Given the description of an element on the screen output the (x, y) to click on. 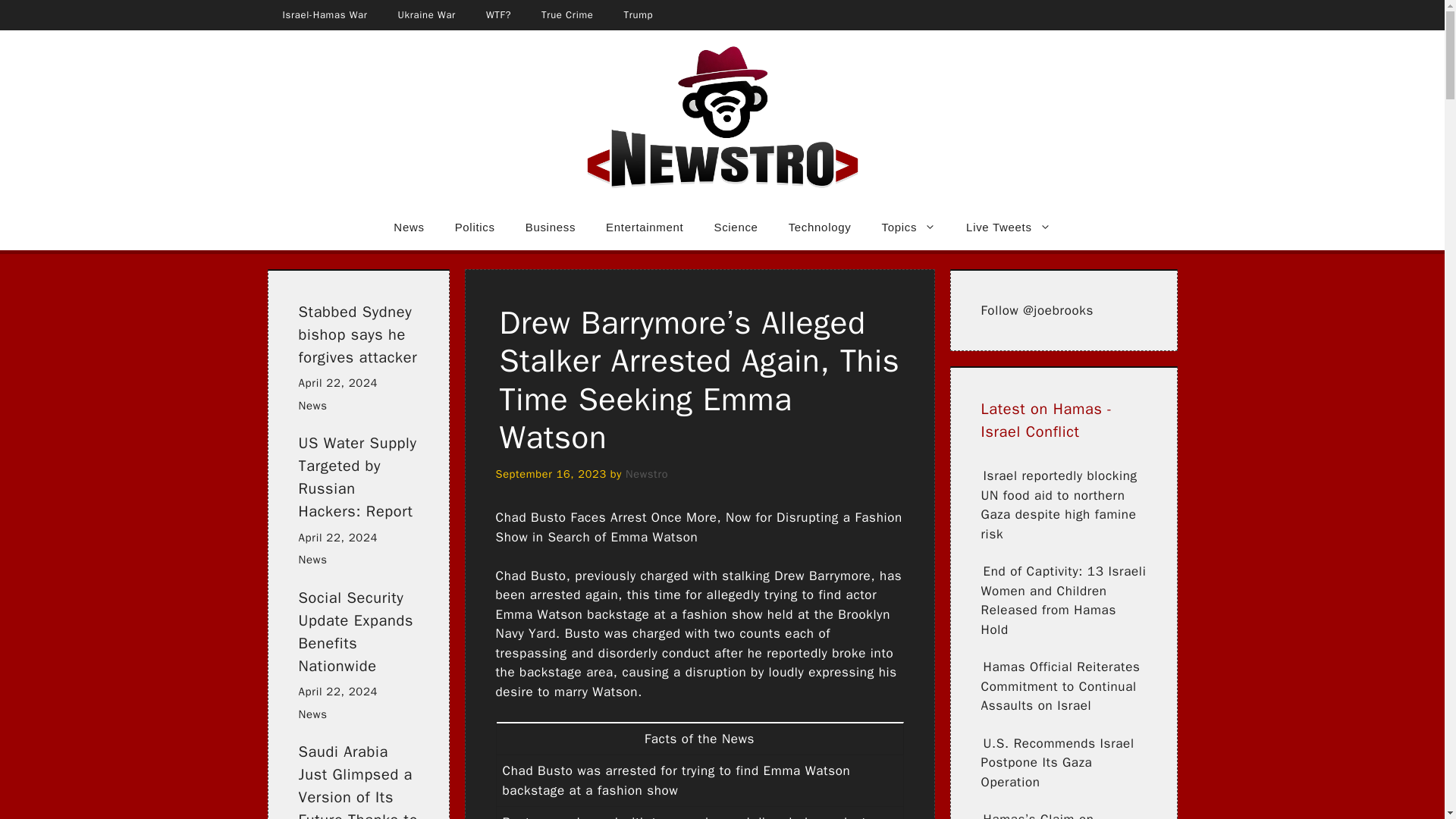
Entertainment (644, 227)
Science (735, 227)
Business (551, 227)
Live Tweets (1007, 227)
News (408, 227)
Technology (819, 227)
Politics (475, 227)
WTF? (497, 15)
Newstro (647, 473)
True Crime (566, 15)
